Given the description of an element on the screen output the (x, y) to click on. 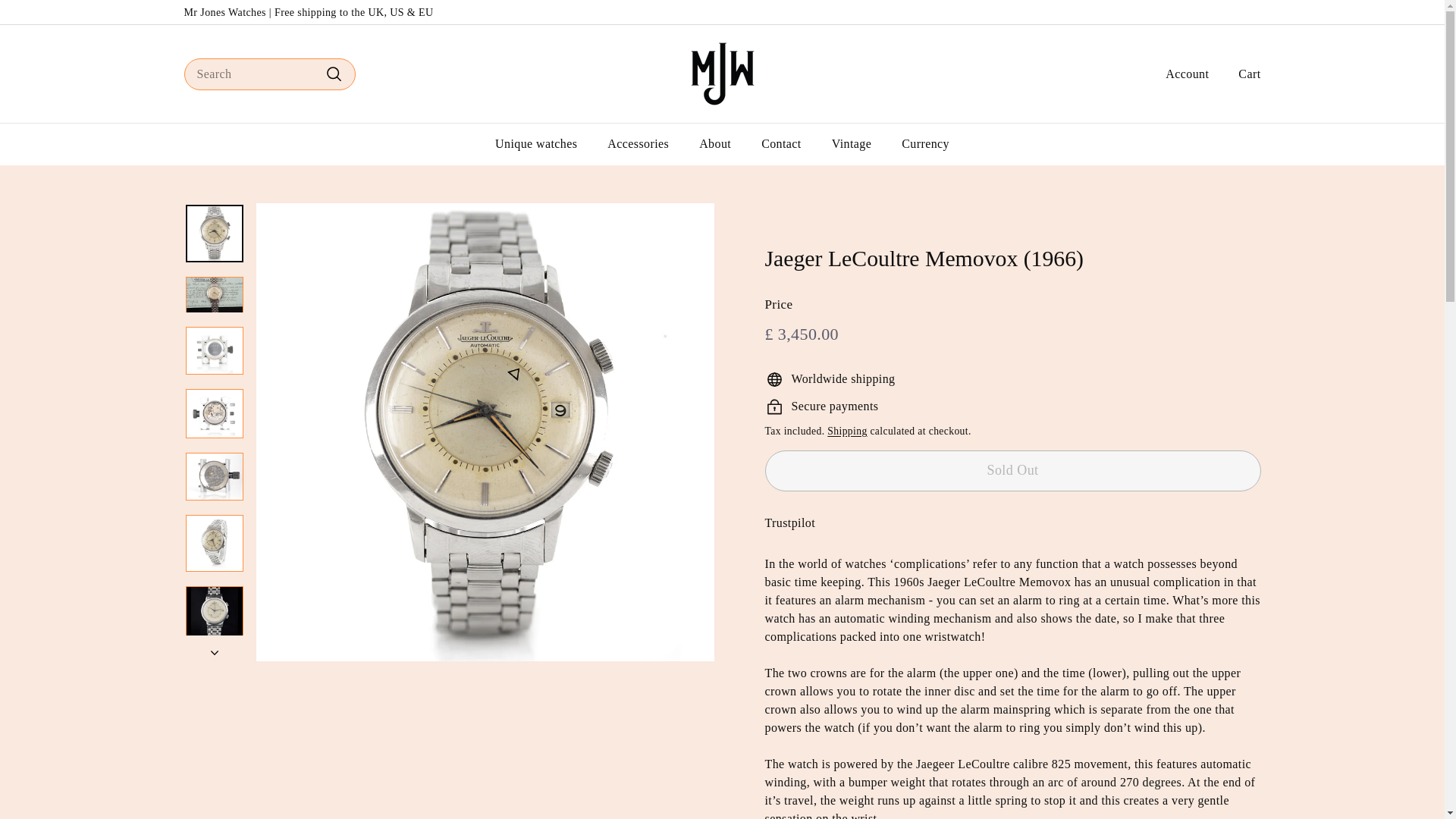
Mr Jones Watches on TikTok (1256, 12)
Mr Jones Watches on YouTube (1248, 12)
Instagram (1233, 12)
Cart (1243, 74)
Account (1180, 74)
icon-chevron (214, 652)
Facebook (1240, 12)
Mr Jones Watches on Facebook (1240, 12)
Mr Jones Watches on Instagram (1233, 12)
